Given the description of an element on the screen output the (x, y) to click on. 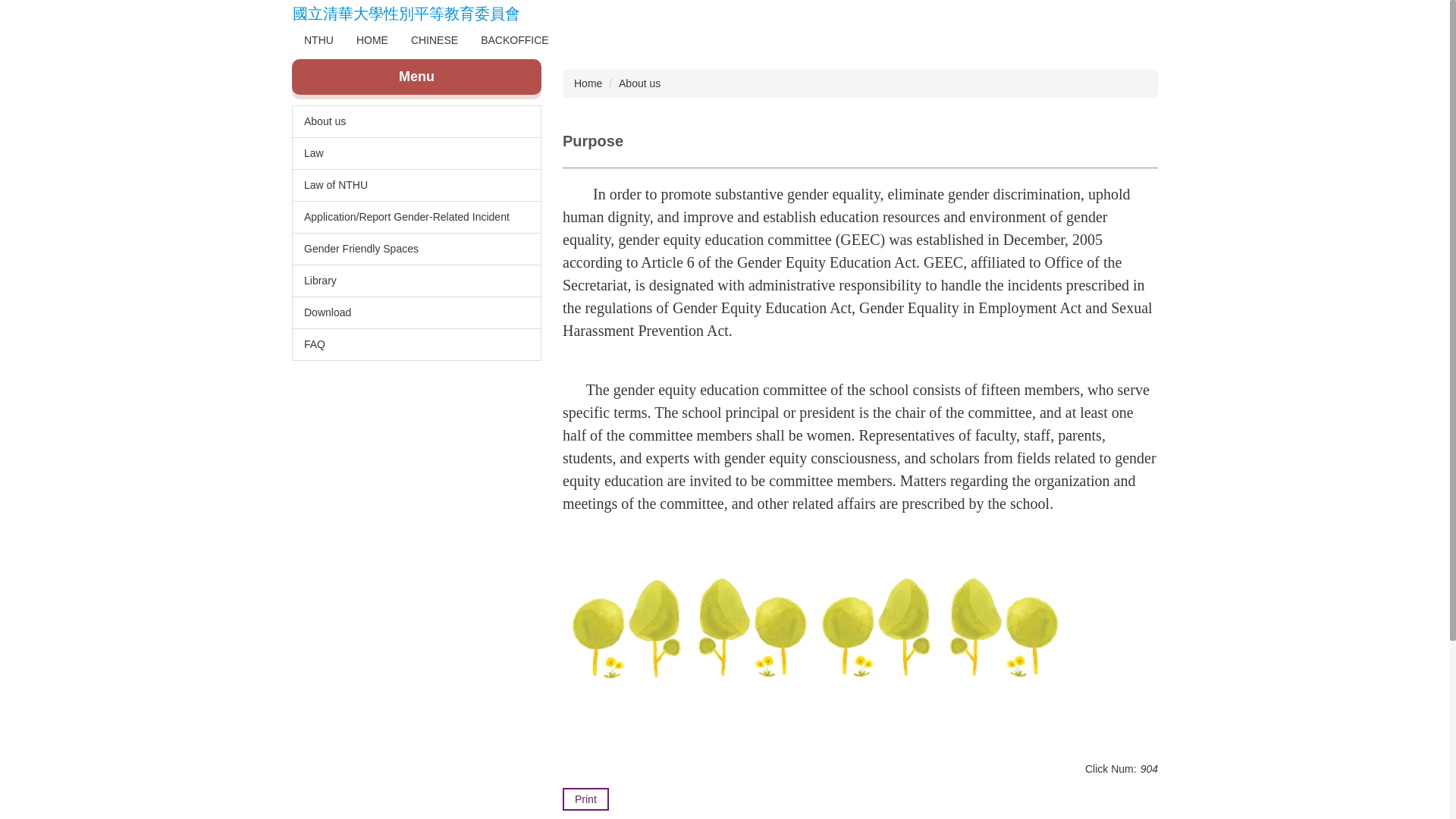
NTHU (318, 39)
Print (585, 799)
Home (587, 82)
About us (416, 121)
Law (416, 153)
FAQ (416, 344)
Library (416, 280)
Gender Friendly Spaces (416, 248)
Gender Friendly Spaces (416, 248)
Home (371, 39)
